Given the description of an element on the screen output the (x, y) to click on. 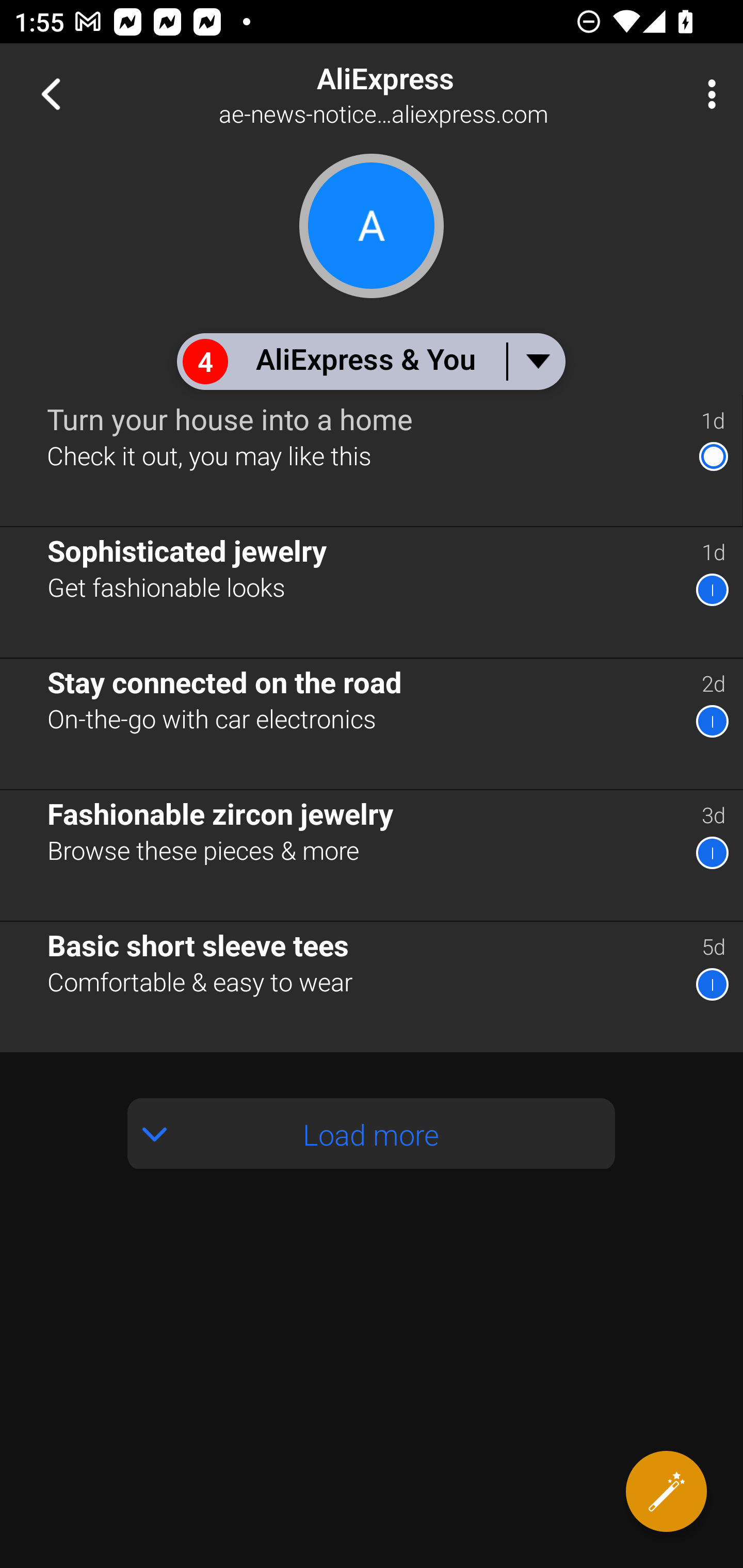
Navigate up (50, 93)
AliExpress ae-news-notice03@mail.aliexpress.com (436, 93)
More Options (706, 93)
4 AliExpress & You (370, 361)
Load more (371, 1132)
